Given the description of an element on the screen output the (x, y) to click on. 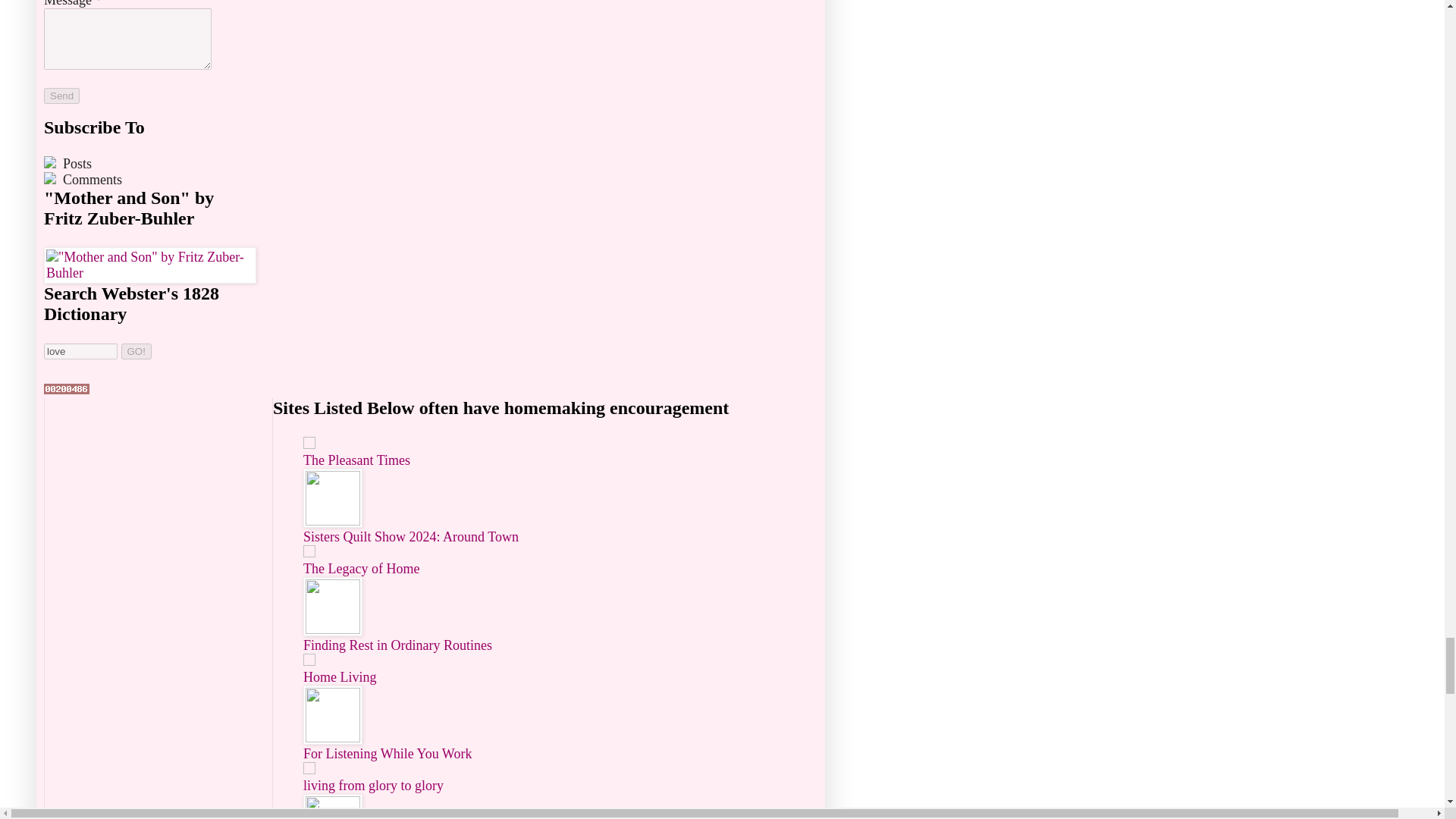
love (80, 351)
Send (61, 95)
GO! (135, 351)
